Given the description of an element on the screen output the (x, y) to click on. 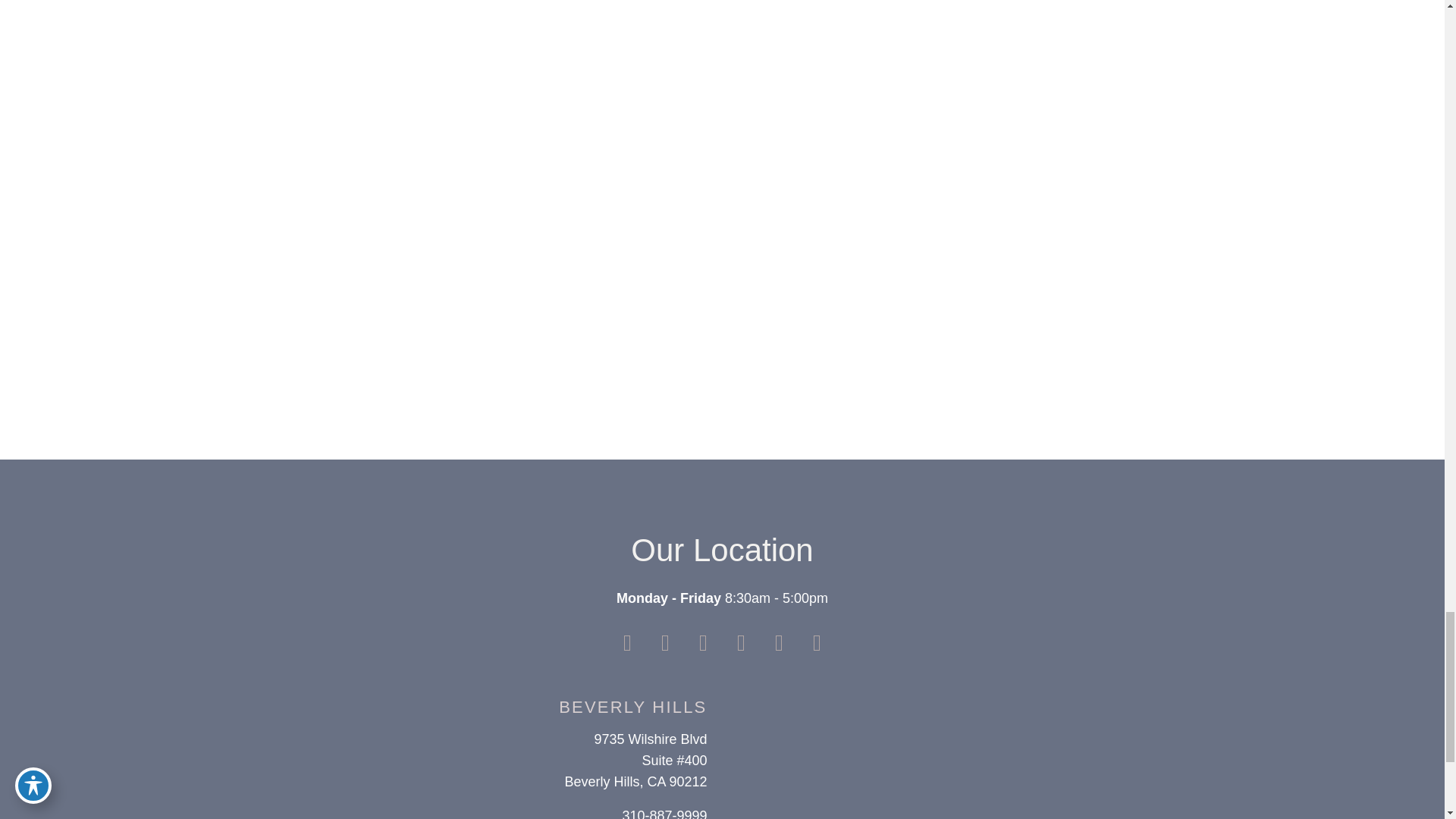
Botox logo (672, 352)
logo dysport (858, 352)
morpheus (1067, 352)
sculptra (1059, 265)
office footer (849, 760)
RHa removebg preview 1 (518, 352)
juvederm (833, 265)
venus viva 1 (383, 258)
precisionsculpt logo (604, 273)
restylane removebg preview (360, 352)
